Given the description of an element on the screen output the (x, y) to click on. 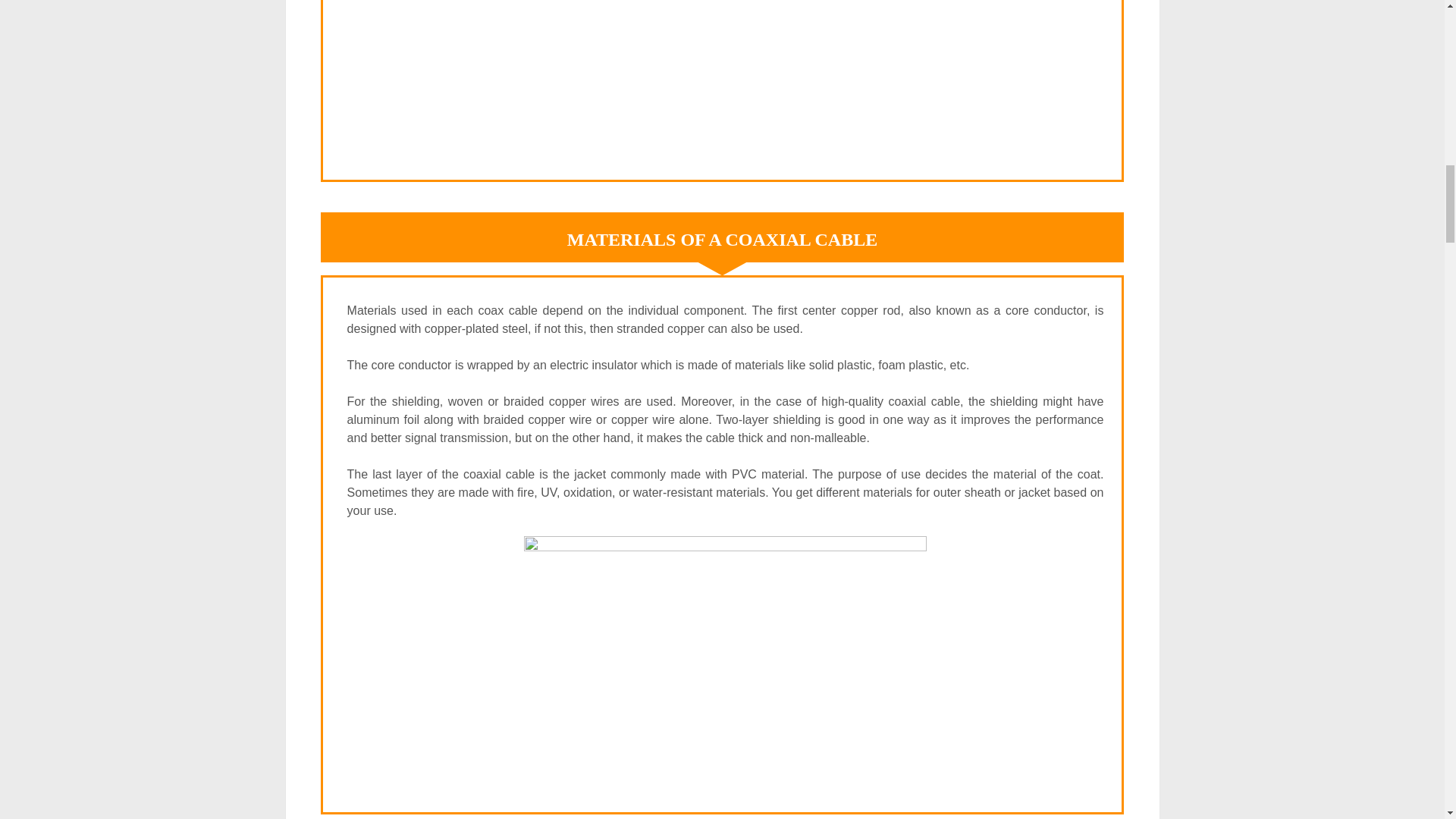
Coaxial cable (725, 657)
coaxial cable diagram (725, 72)
